Given the description of an element on the screen output the (x, y) to click on. 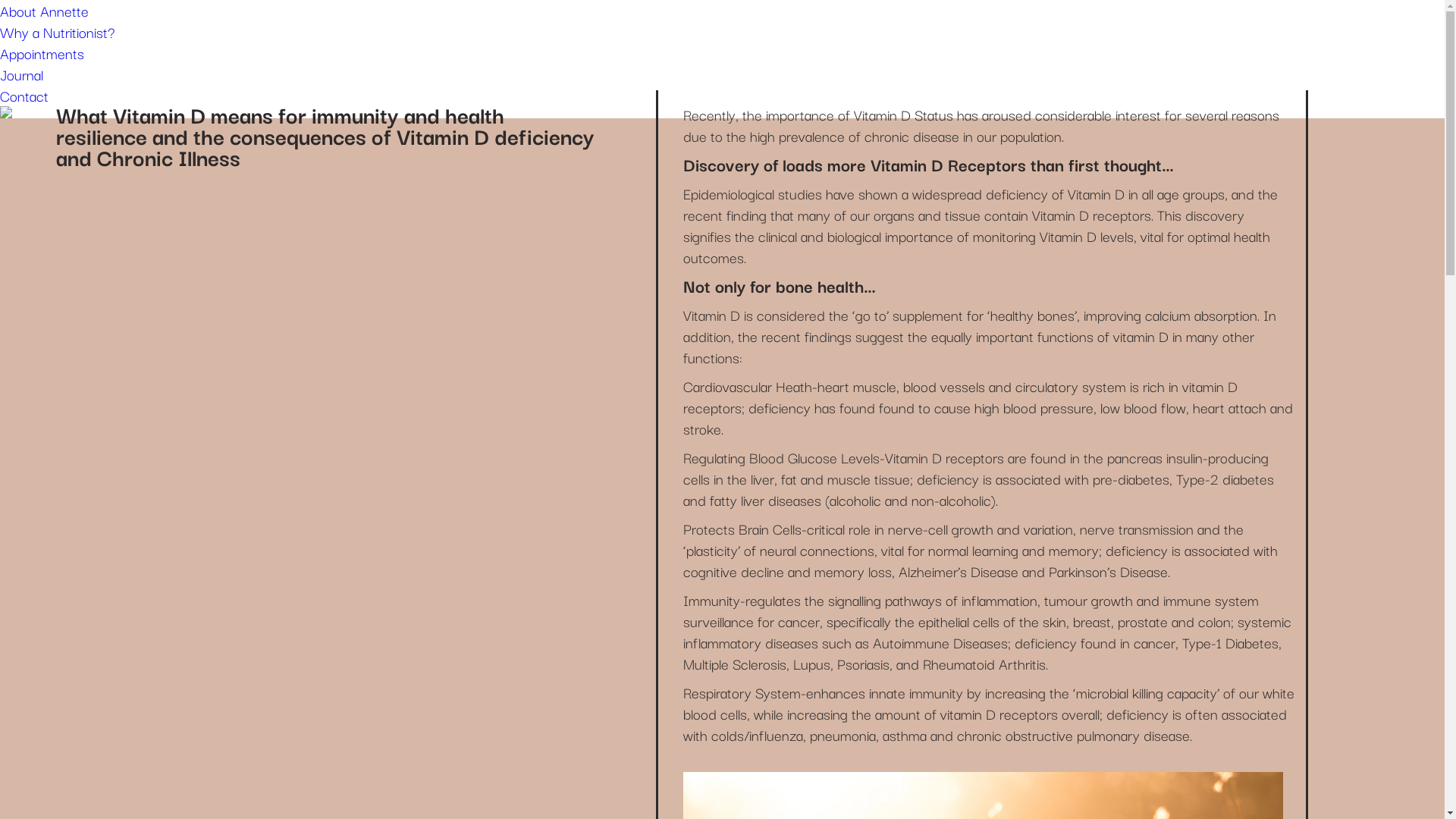
Appointments Element type: text (42, 52)
Why a Nutritionist? Element type: text (57, 31)
Journal Element type: text (21, 73)
About Annette Element type: text (44, 10)
Contact Element type: text (24, 95)
